Given the description of an element on the screen output the (x, y) to click on. 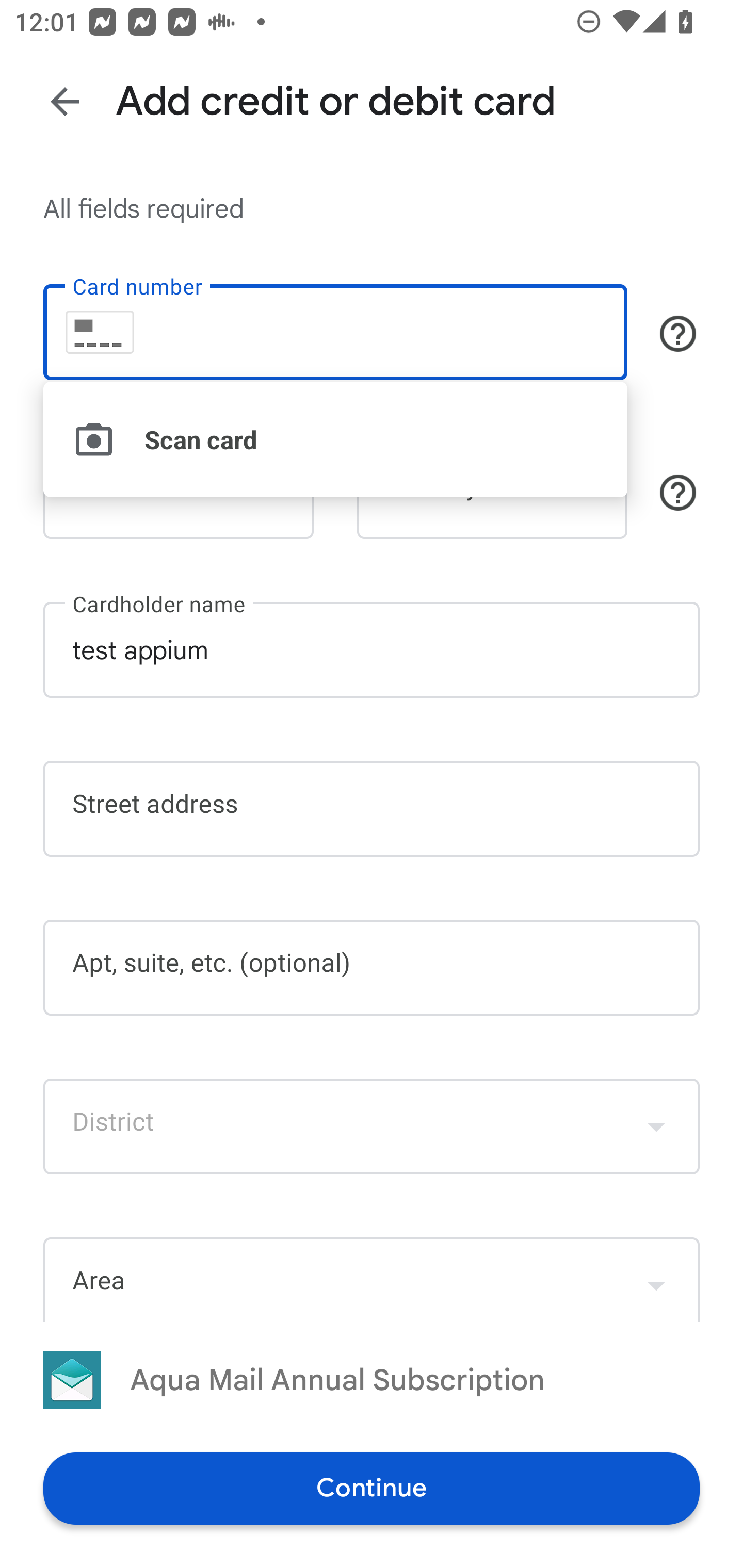
Back (64, 101)
Card number (335, 331)
Button, shows cards that are accepted for payment (677, 333)
Security code help (677, 492)
test appium (371, 649)
Street address (371, 808)
Apt, suite, etc. (optional) (371, 968)
District (371, 1126)
Show dropdown menu (655, 1126)
Area (371, 1279)
Show dropdown menu (655, 1281)
Continue (371, 1487)
